Given the description of an element on the screen output the (x, y) to click on. 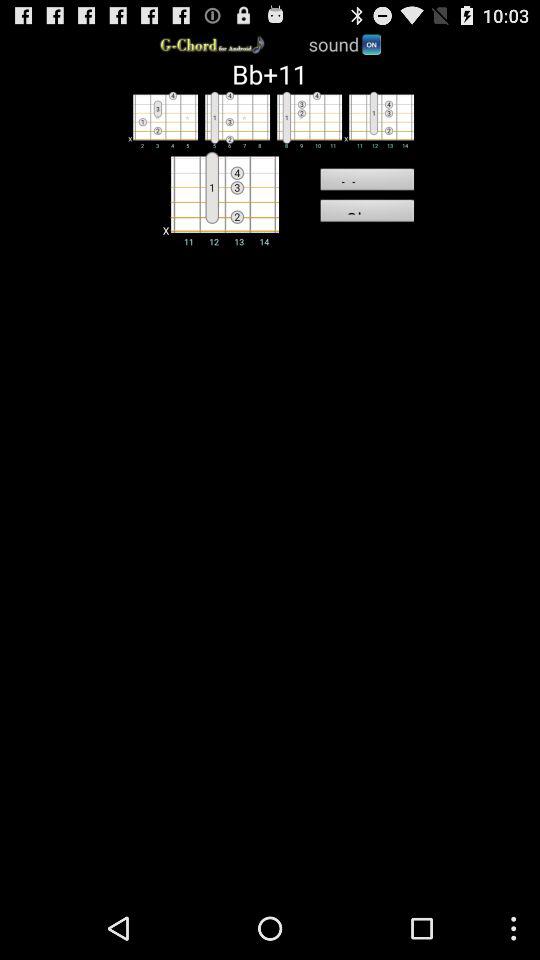
second chord (234, 119)
